Given the description of an element on the screen output the (x, y) to click on. 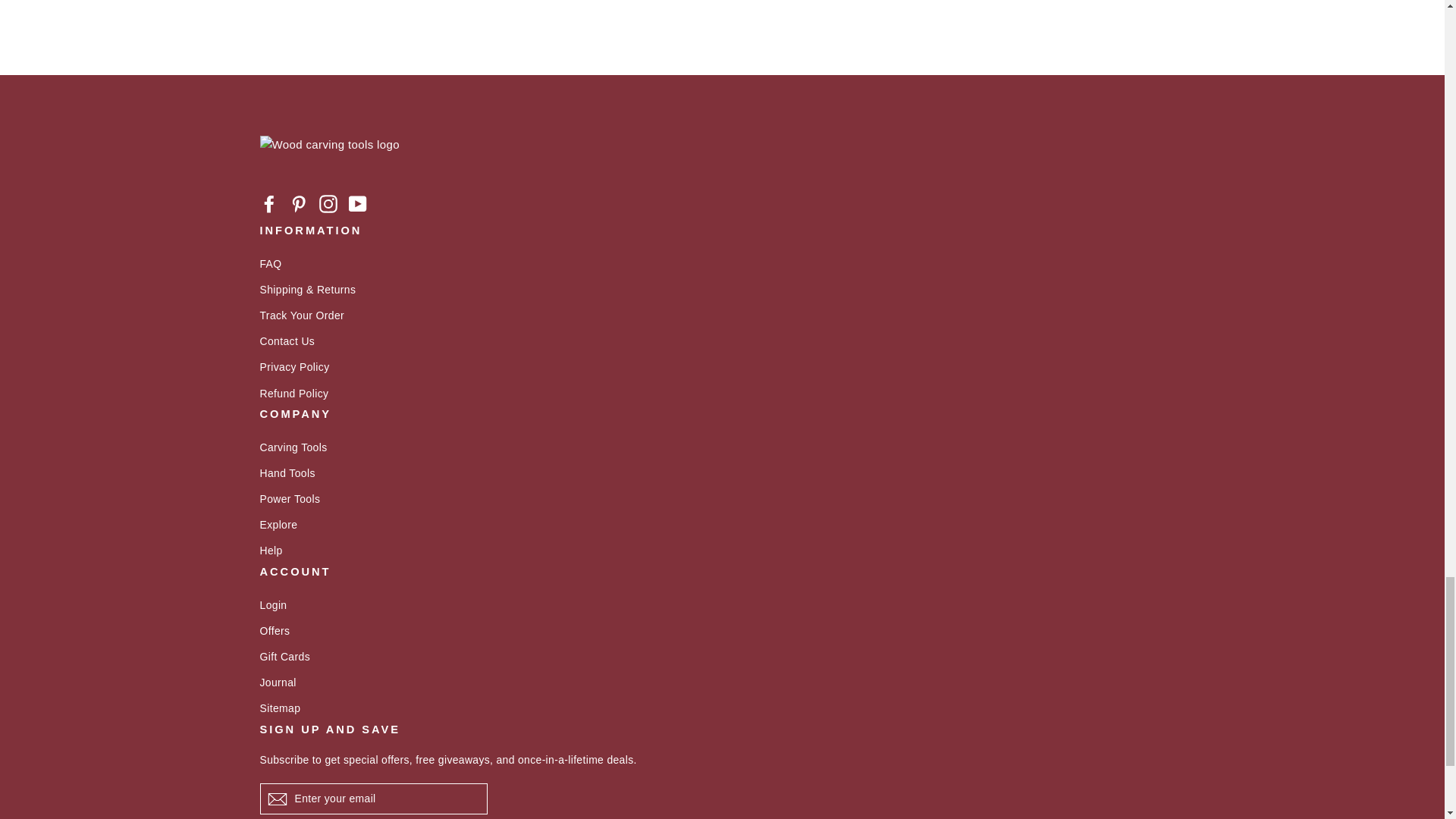
STRYI CARVING TOOLS on YouTube (357, 203)
STRYI CARVING TOOLS on Facebook (268, 203)
STRYI CARVING TOOLS on Instagram (327, 203)
STRYI CARVING TOOLS on Pinterest (298, 203)
